Given the description of an element on the screen output the (x, y) to click on. 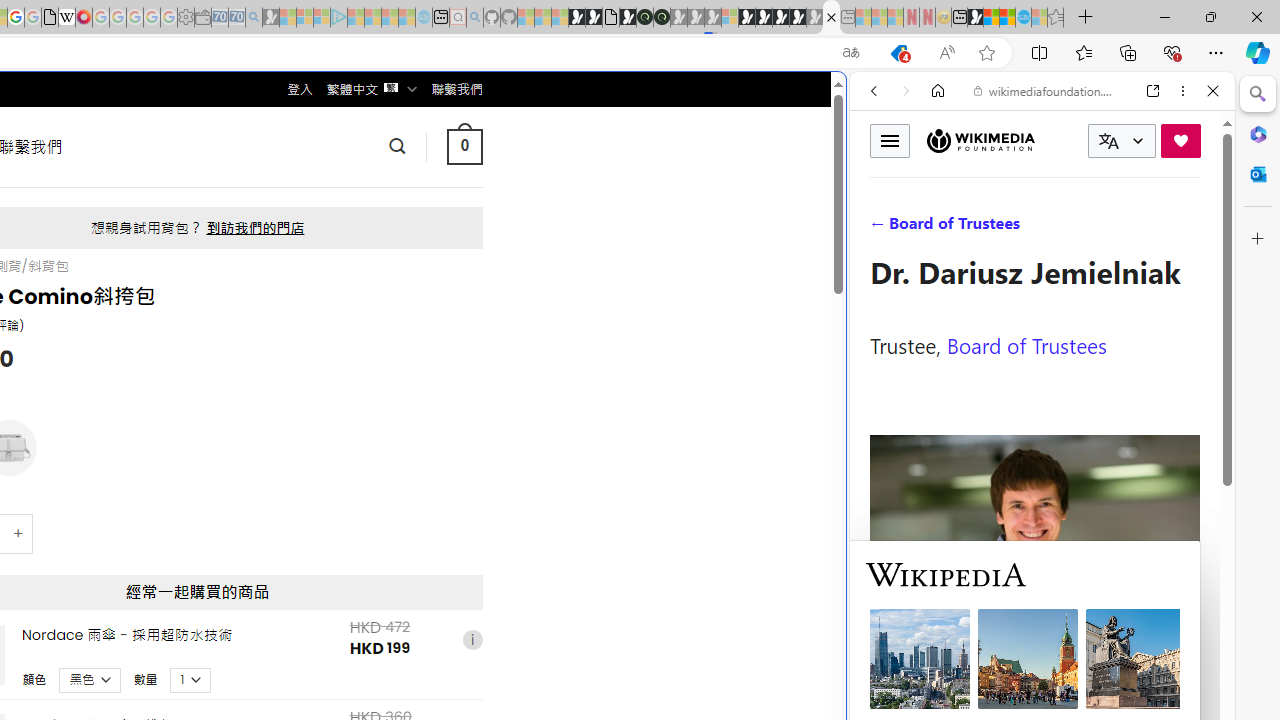
Close split screen (844, 102)
Tabs you've opened (276, 265)
Sign in to your account - Sleeping (729, 17)
  0   (464, 146)
